Given the description of an element on the screen output the (x, y) to click on. 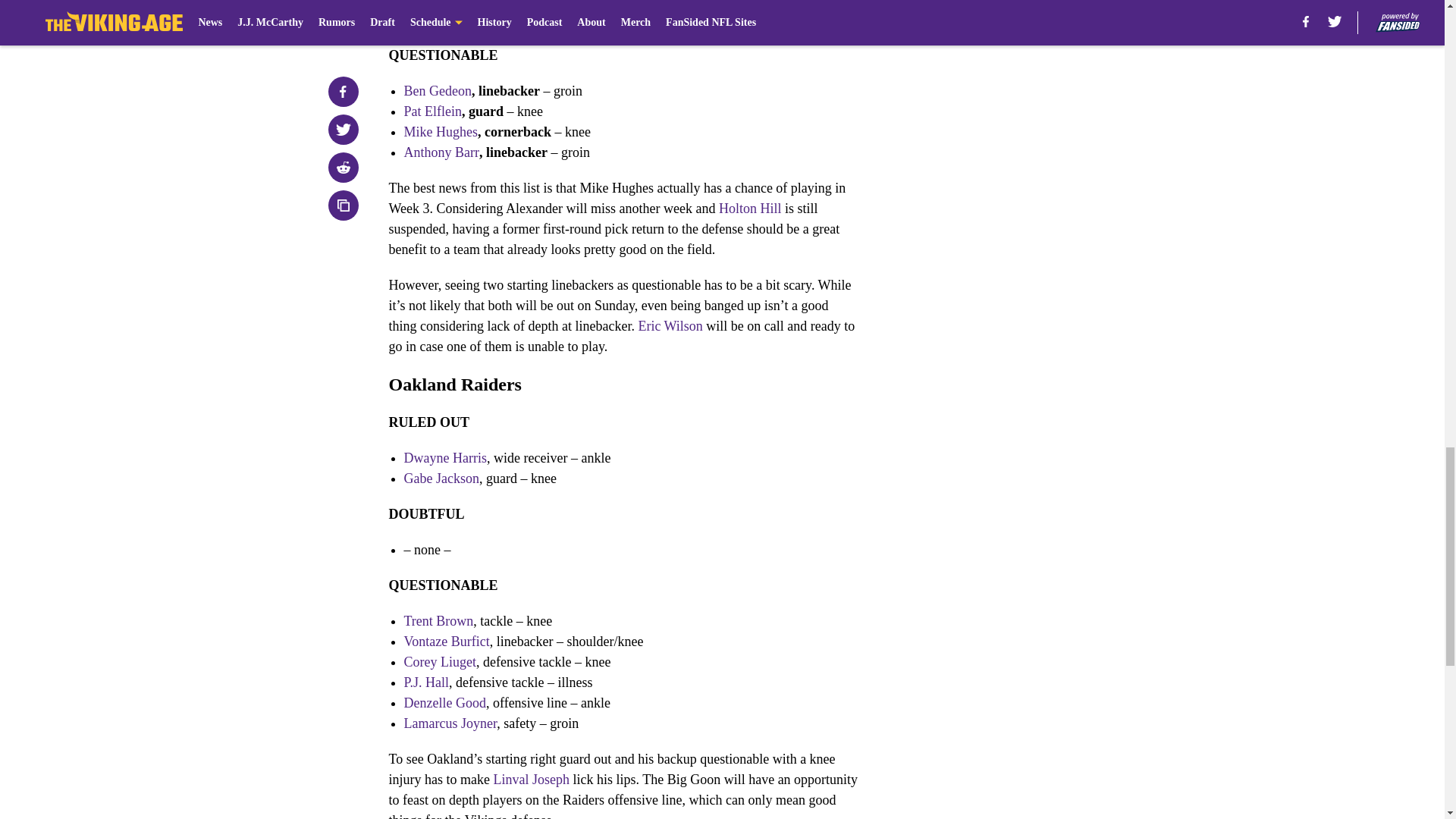
Mike Hughes (440, 131)
Lamarcus Joyner (449, 723)
Gabe Jackson (441, 478)
Dwayne Harris (444, 458)
Vontaze Burfict (446, 641)
Trent Brown (438, 620)
Eric Wilson (669, 325)
Linval Joseph (531, 779)
Holton Hill (750, 208)
Corey Liuget (439, 661)
